Given the description of an element on the screen output the (x, y) to click on. 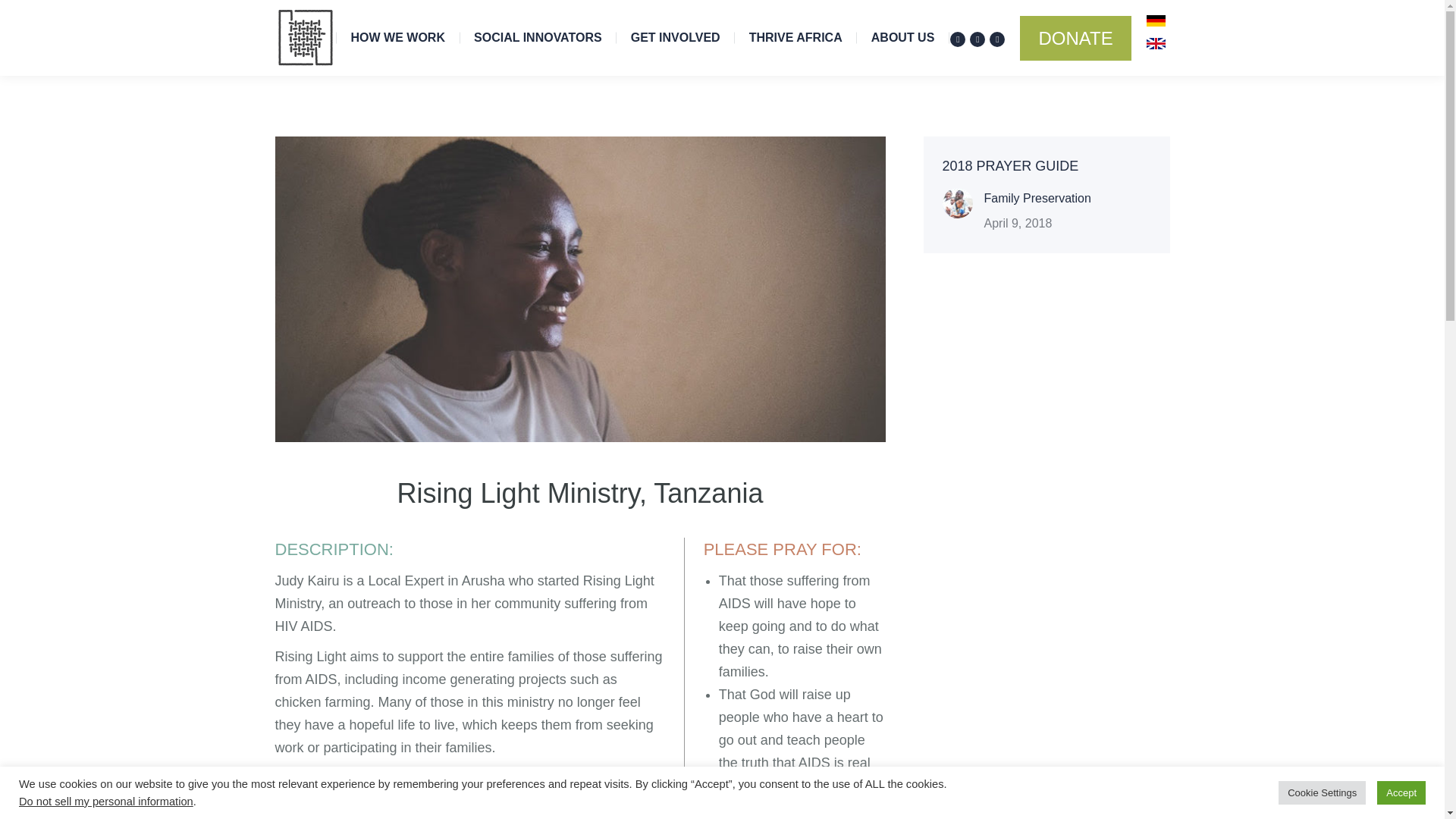
8bc00a1c06 (975, 400)
Mail page opens in new window (330, 362)
SOCIAL INNOVATORS (537, 38)
German Language (1156, 20)
DONATE (1075, 37)
Mail page opens in new window (997, 38)
Instagram page opens in new window (977, 38)
Instagram page opens in new window (308, 362)
HOW WE WORK (397, 38)
Facebook page opens in new window (285, 362)
3a81e6f6b3 (975, 419)
Mail page opens in new window (997, 38)
Facebook page opens in new window (957, 38)
Instagram page opens in new window (977, 38)
Go! (681, 253)
